Given the description of an element on the screen output the (x, y) to click on. 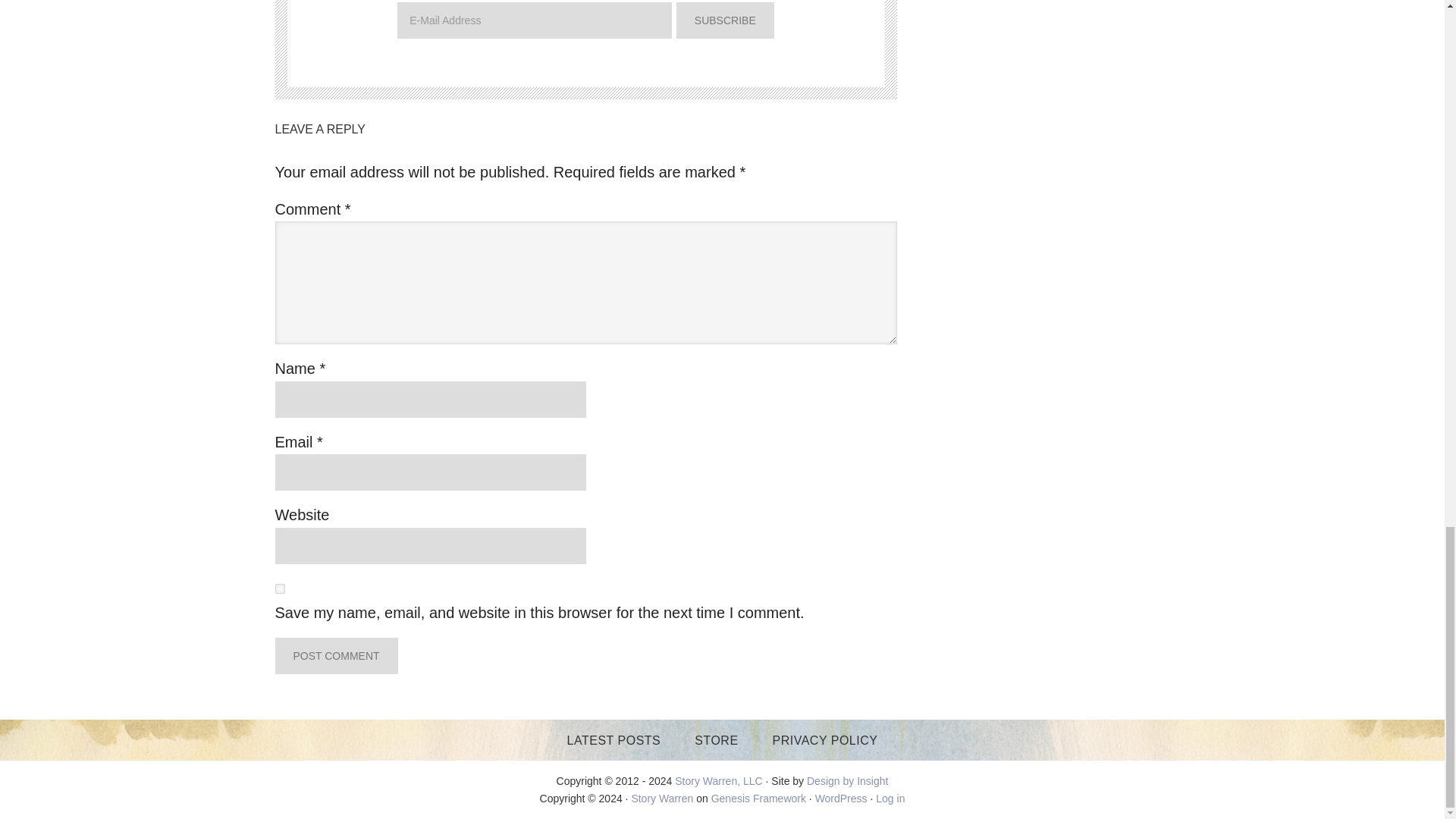
Post Comment (336, 656)
Subscribe (725, 20)
Subscribe (725, 20)
yes (279, 588)
